Given the description of an element on the screen output the (x, y) to click on. 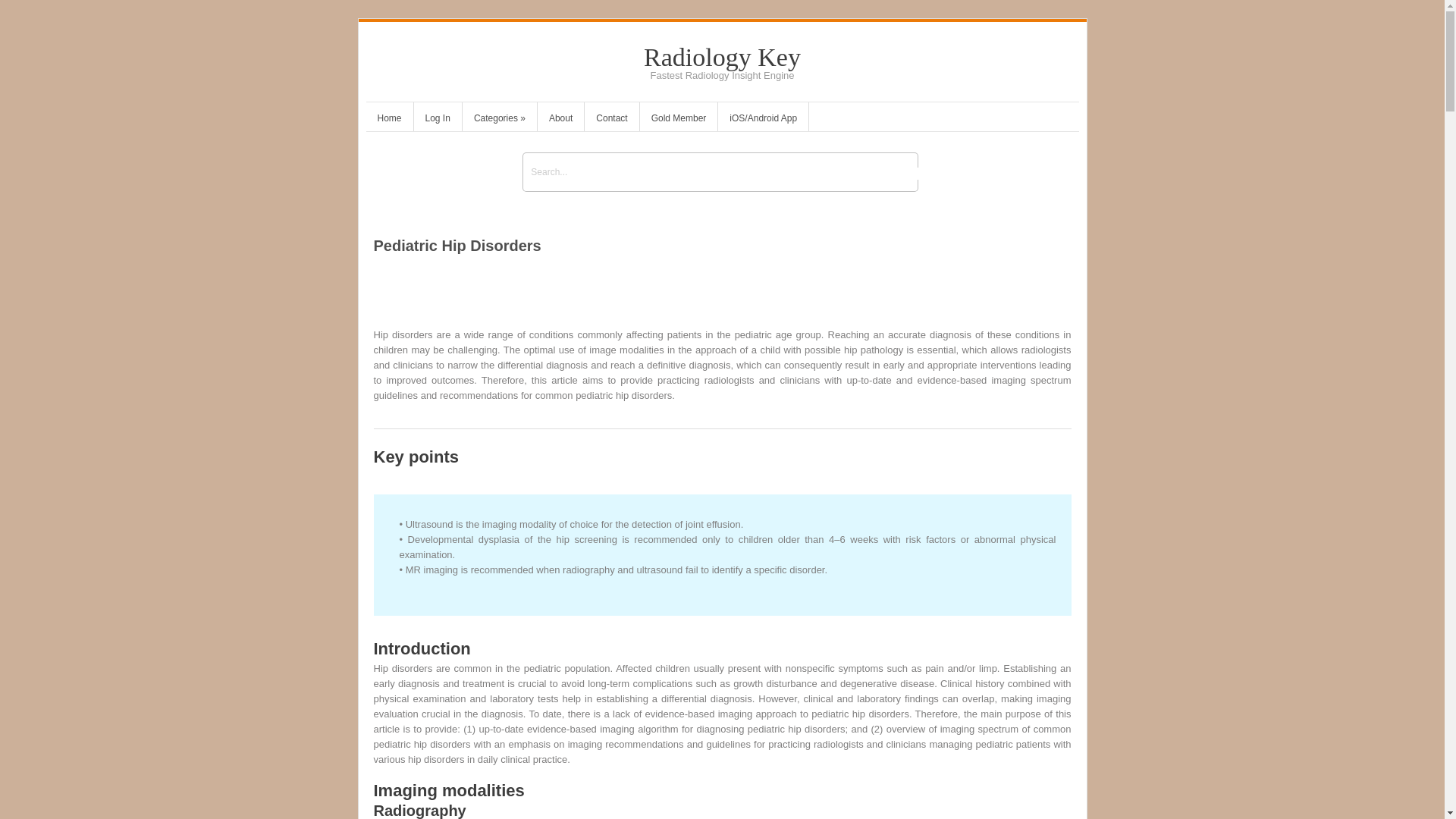
Contact (612, 119)
Radiology Key (721, 57)
Radiology Key (721, 57)
Home (388, 119)
Log In (437, 119)
About (560, 119)
Gold Member (678, 119)
